Given the description of an element on the screen output the (x, y) to click on. 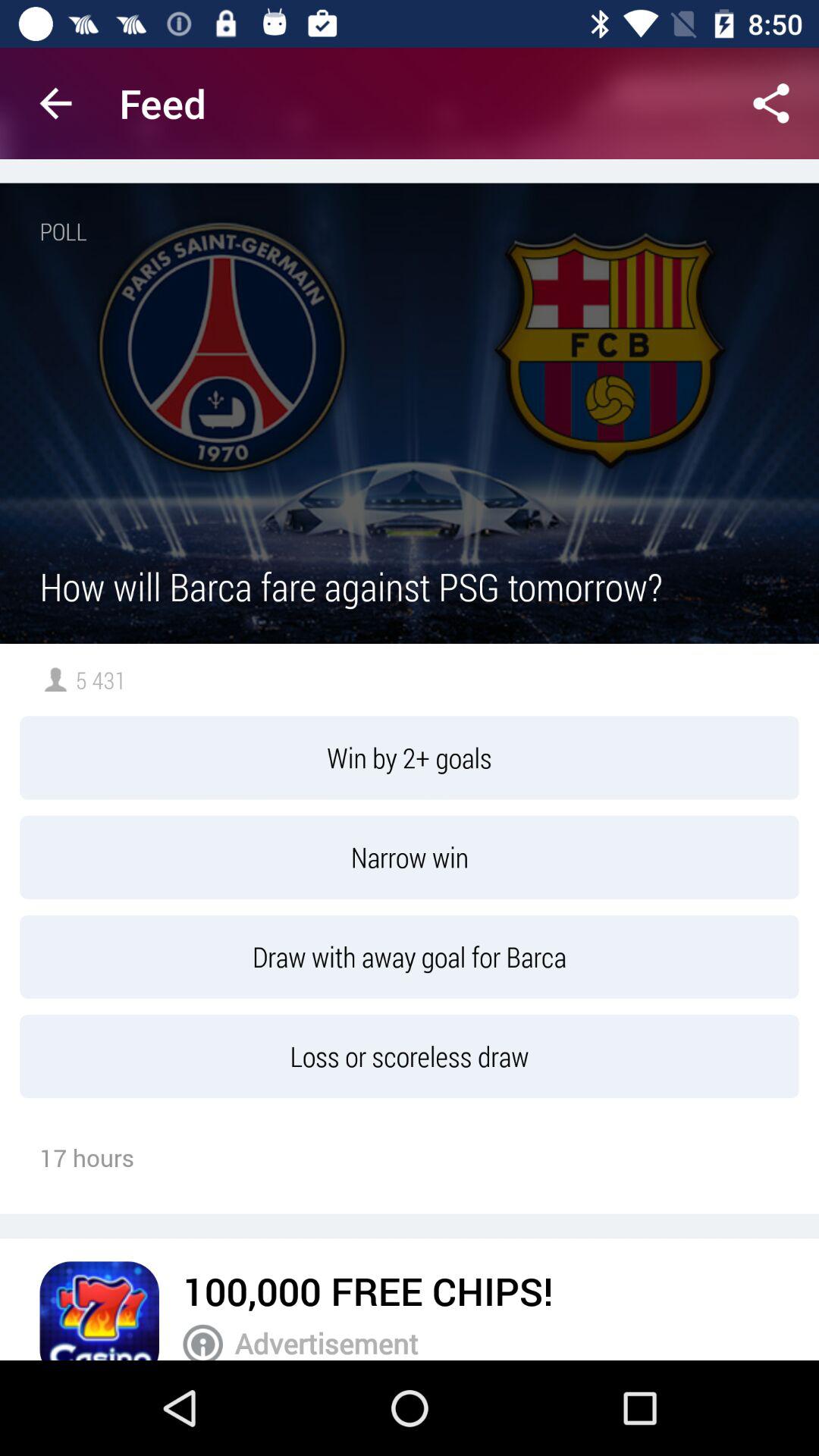
open the app next to the feed (55, 103)
